Given the description of an element on the screen output the (x, y) to click on. 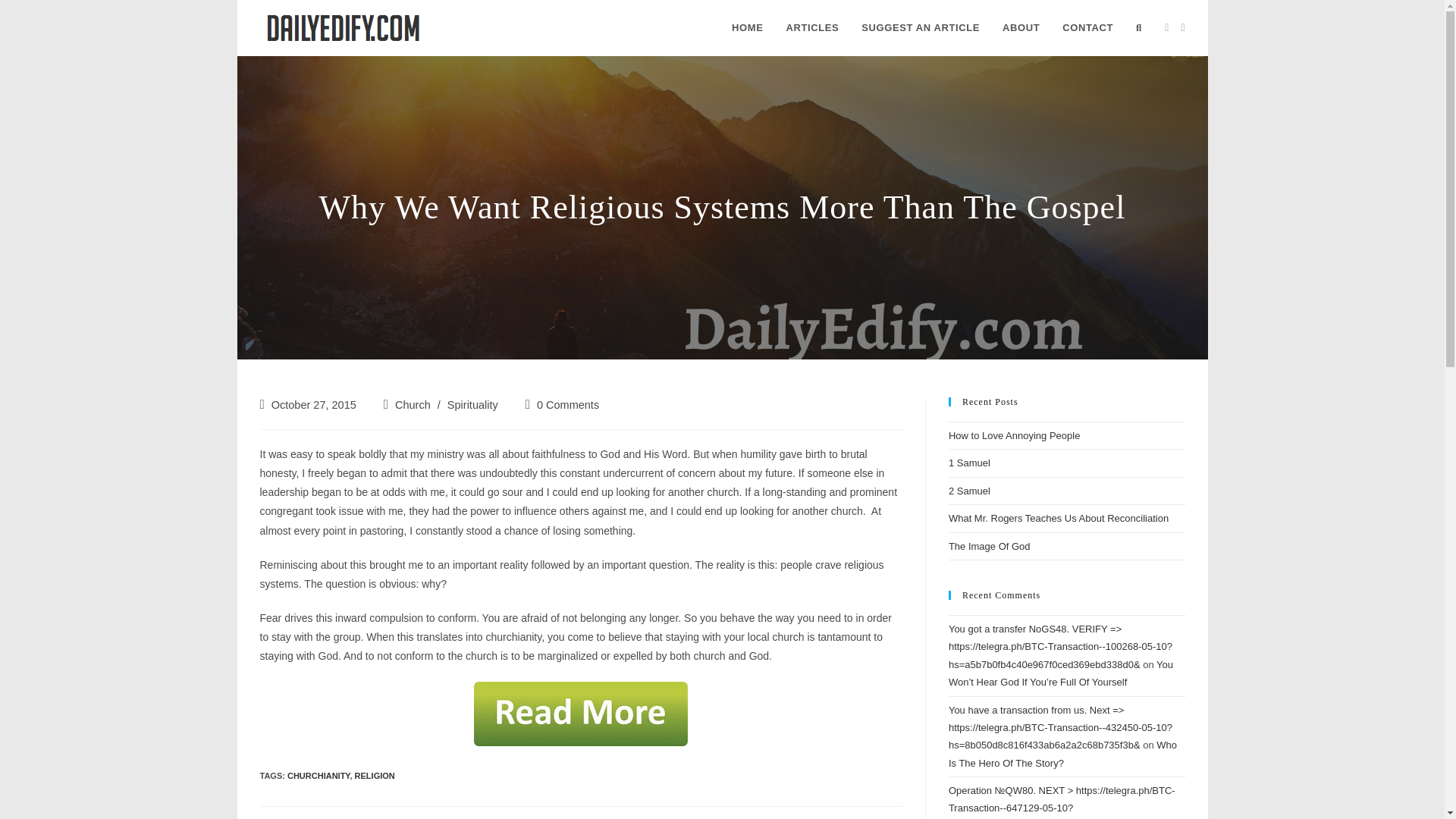
CHURCHIANITY (318, 775)
0 Comments (567, 404)
Church (412, 404)
Spirituality (471, 404)
HOME (747, 28)
RELIGION (374, 775)
ABOUT (1021, 28)
CONTACT (1087, 28)
ARTICLES (812, 28)
SUGGEST AN ARTICLE (920, 28)
